Given the description of an element on the screen output the (x, y) to click on. 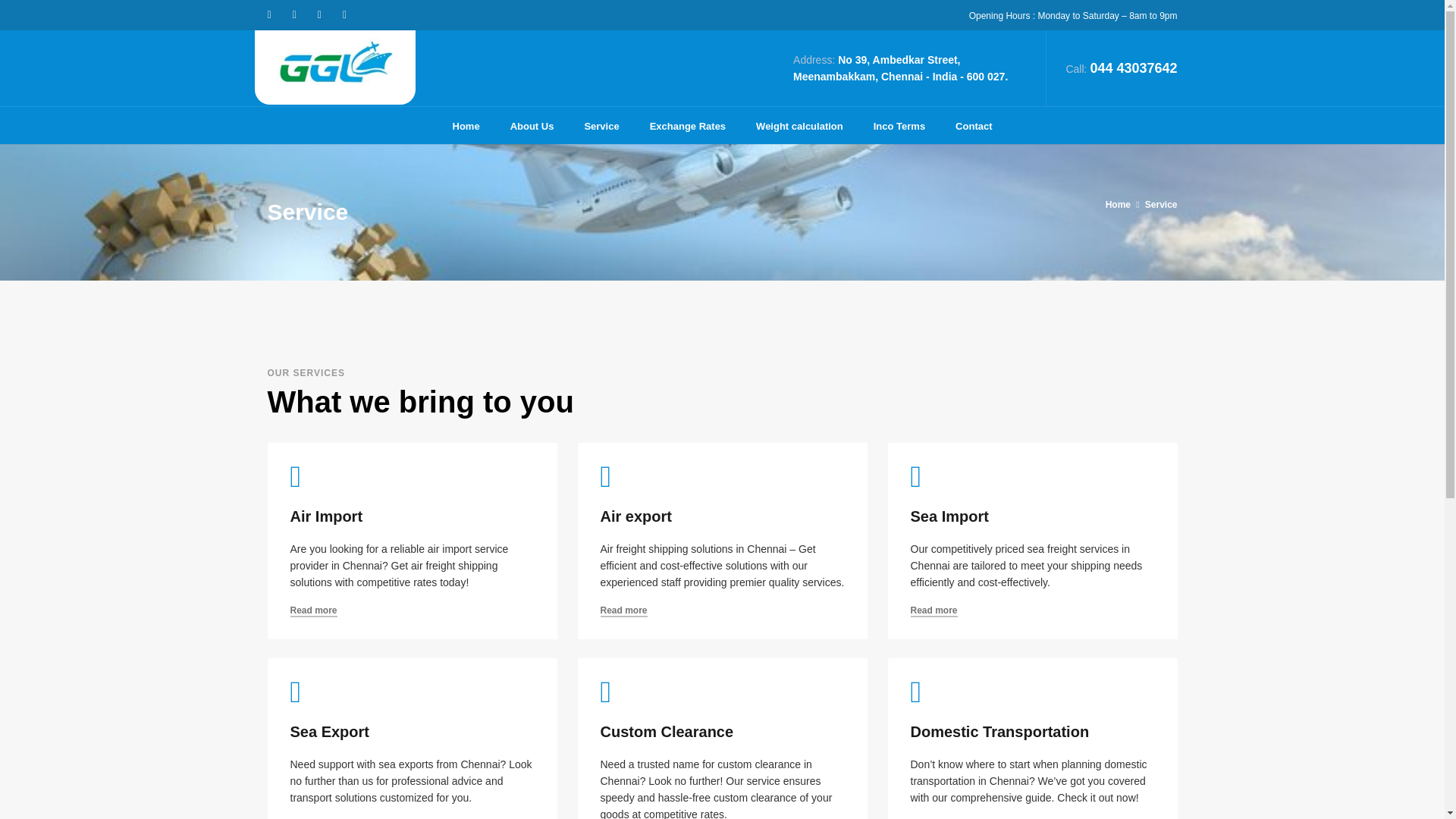
Read more (623, 611)
Service (1160, 204)
Service (601, 125)
About Us (532, 125)
Home (1118, 204)
Inco Terms (899, 125)
Weight calculation (800, 125)
Exchange Rates (687, 125)
Contact (973, 125)
Read more (312, 611)
